Given the description of an element on the screen output the (x, y) to click on. 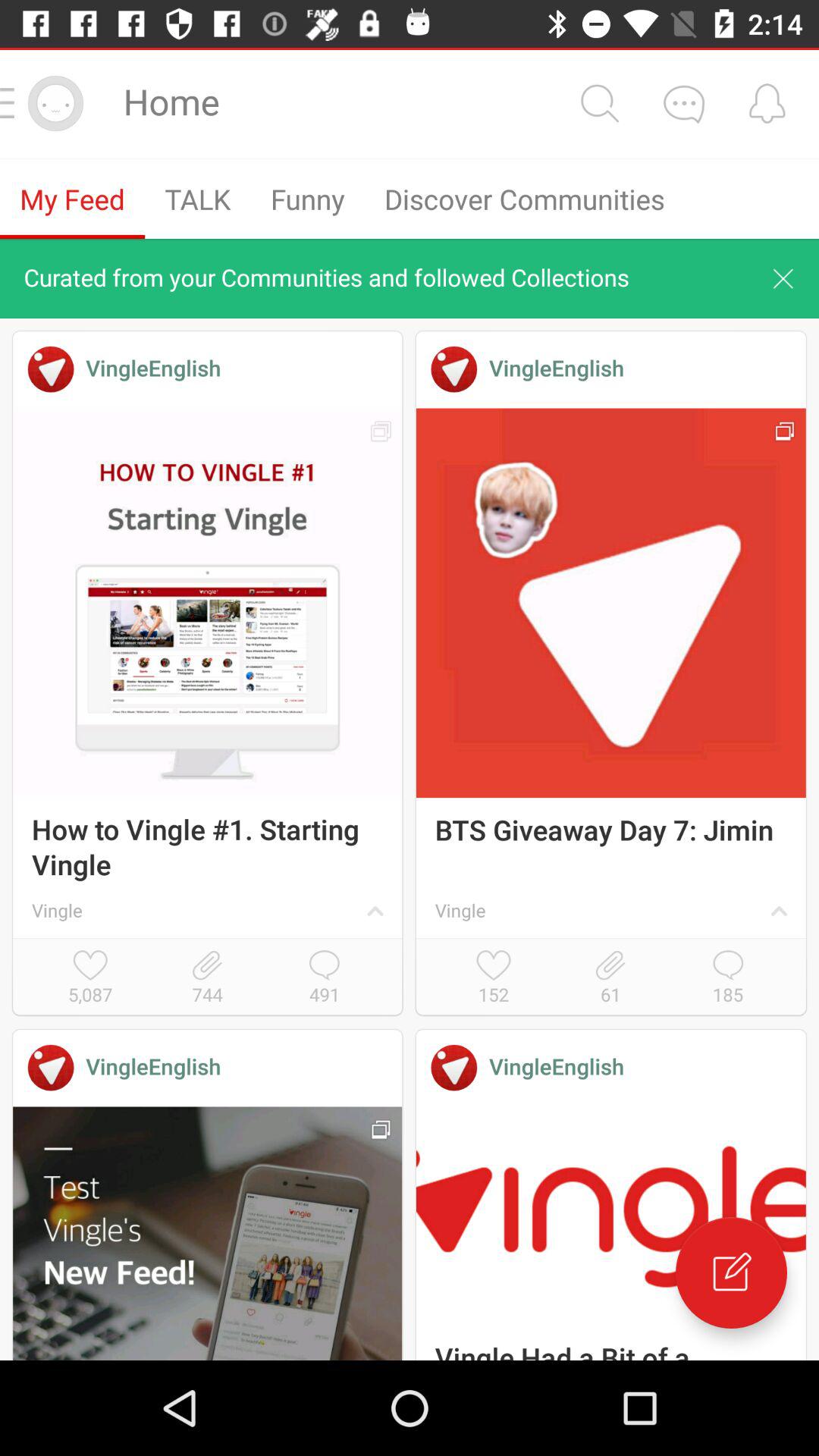
search option (599, 103)
